Given the description of an element on the screen output the (x, y) to click on. 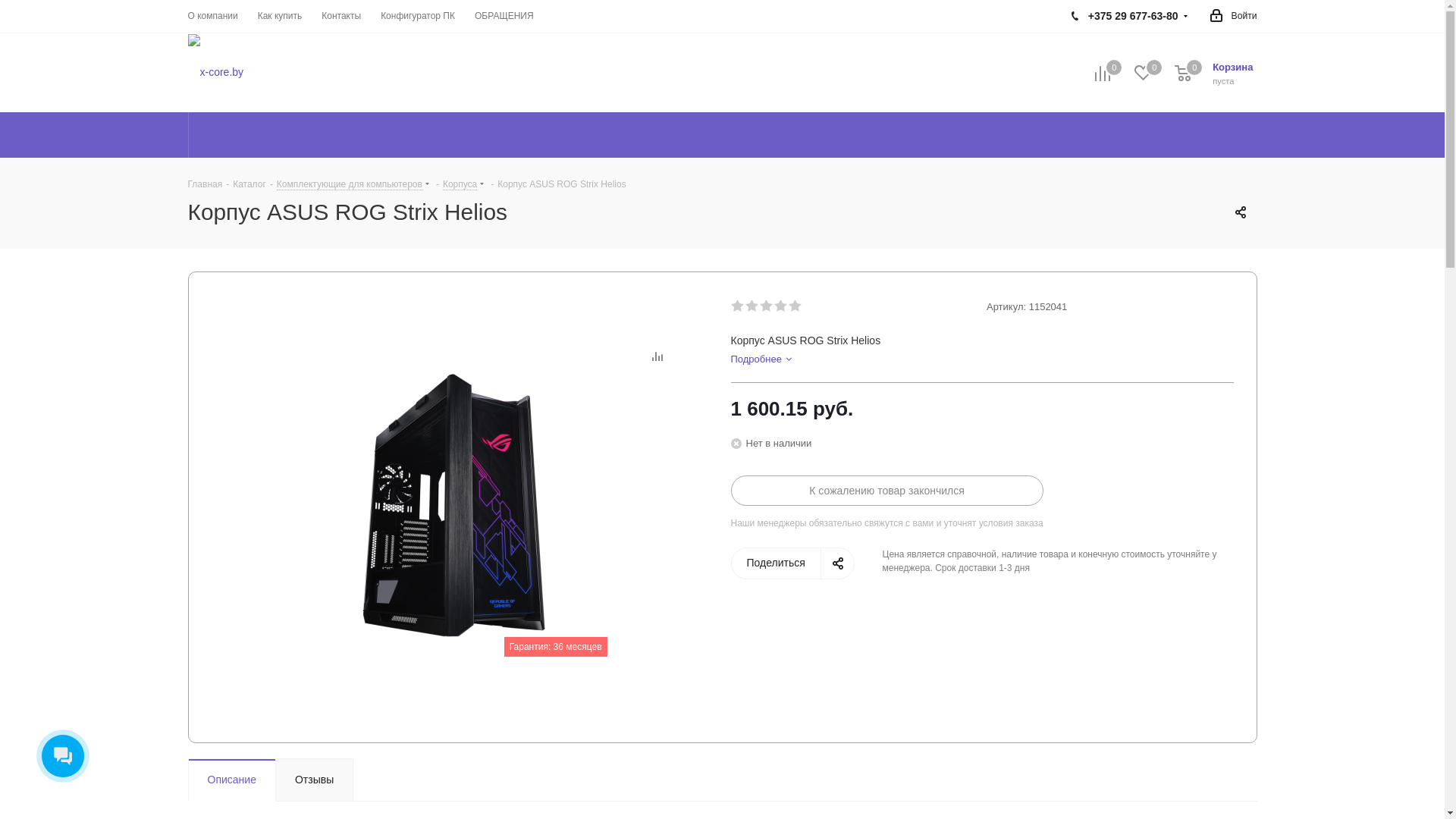
4 Element type: hover (780, 306)
1 Element type: hover (738, 306)
5 Element type: hover (795, 306)
2 Element type: hover (751, 306)
x-core.by Element type: hover (216, 72)
3 Element type: hover (766, 306)
